Given the description of an element on the screen output the (x, y) to click on. 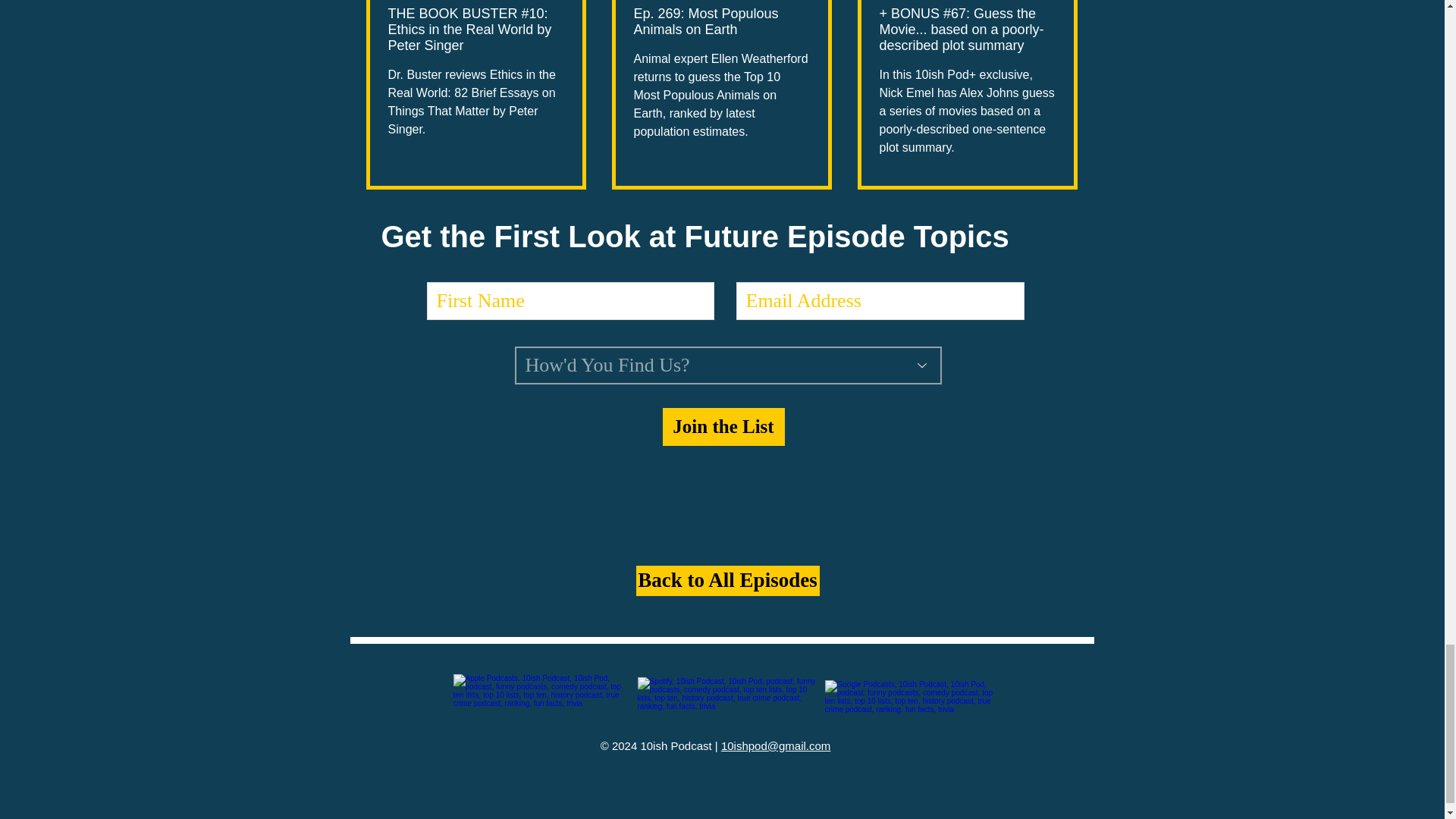
Ep. 269: Most Populous Animals on Earth (721, 21)
